Given the description of an element on the screen output the (x, y) to click on. 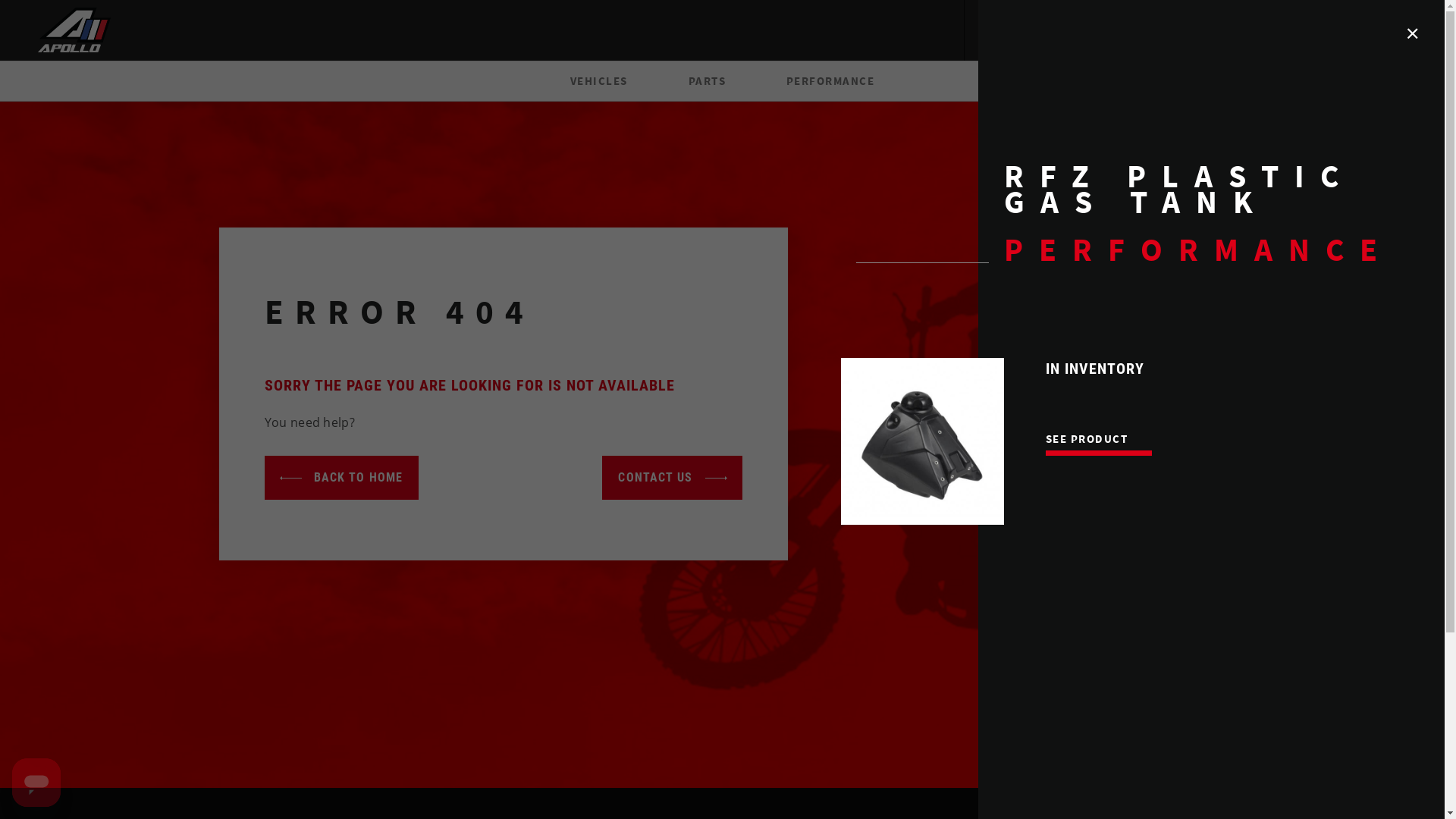
CONTACT US Element type: text (671, 477)
SEE PRODUCT Element type: text (1086, 438)
PERFORMANCE Element type: text (829, 80)
Frequently asked questions Element type: hover (1374, 29)
VEHICLES Element type: text (598, 80)
LOG IN Element type: text (1069, 30)
BACK TO HOME Element type: text (341, 477)
PARTS Element type: text (706, 80)
FR Element type: text (994, 30)
